Given the description of an element on the screen output the (x, y) to click on. 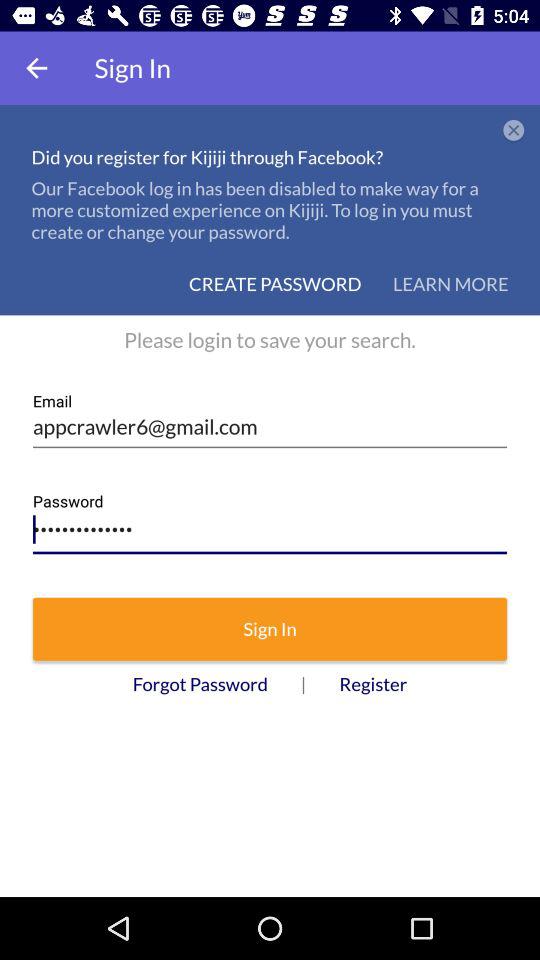
open the item next to did you register (513, 131)
